Given the description of an element on the screen output the (x, y) to click on. 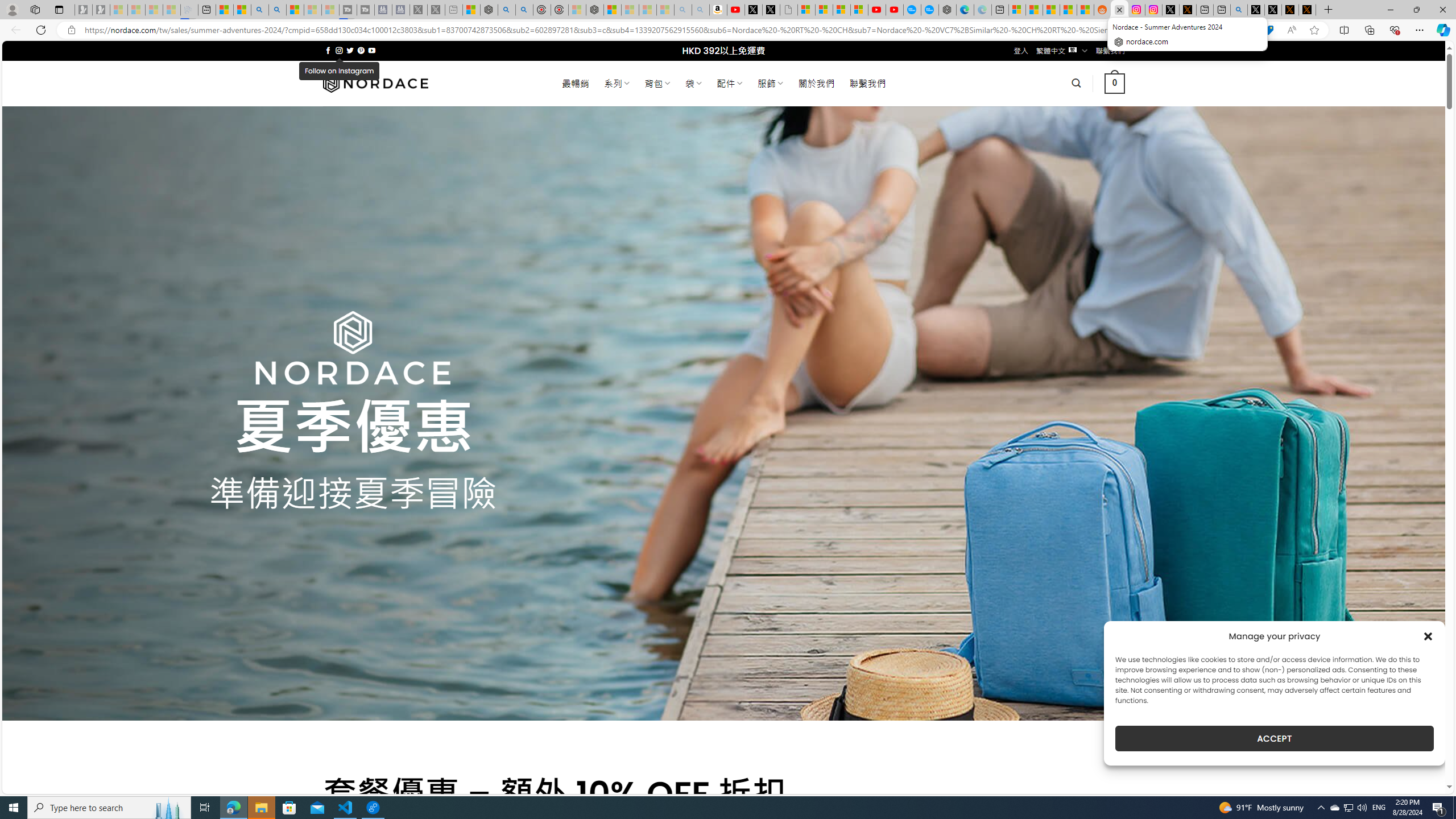
Split screen (1344, 29)
Add this page to favorites (Ctrl+D) (1314, 29)
Restore (1416, 9)
Shanghai, China Weather trends | Microsoft Weather (1085, 9)
Settings and more (Alt+F) (1419, 29)
The most popular Google 'how to' searches (929, 9)
Microsoft account | Microsoft Account Privacy Settings (1016, 9)
help.x.com | 524: A timeout occurred (1187, 9)
